Given the description of an element on the screen output the (x, y) to click on. 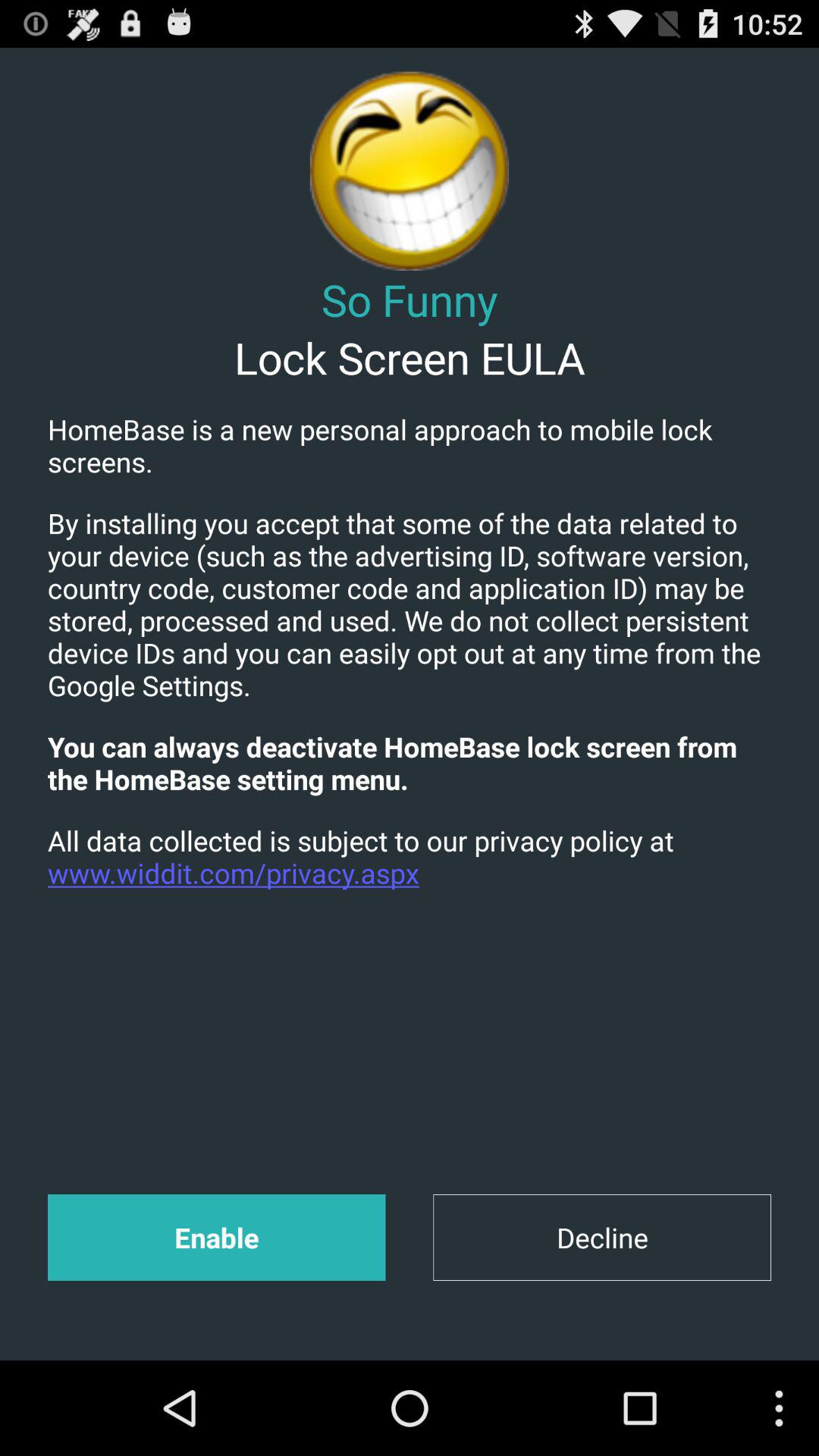
select the item above the you can always (409, 604)
